Given the description of an element on the screen output the (x, y) to click on. 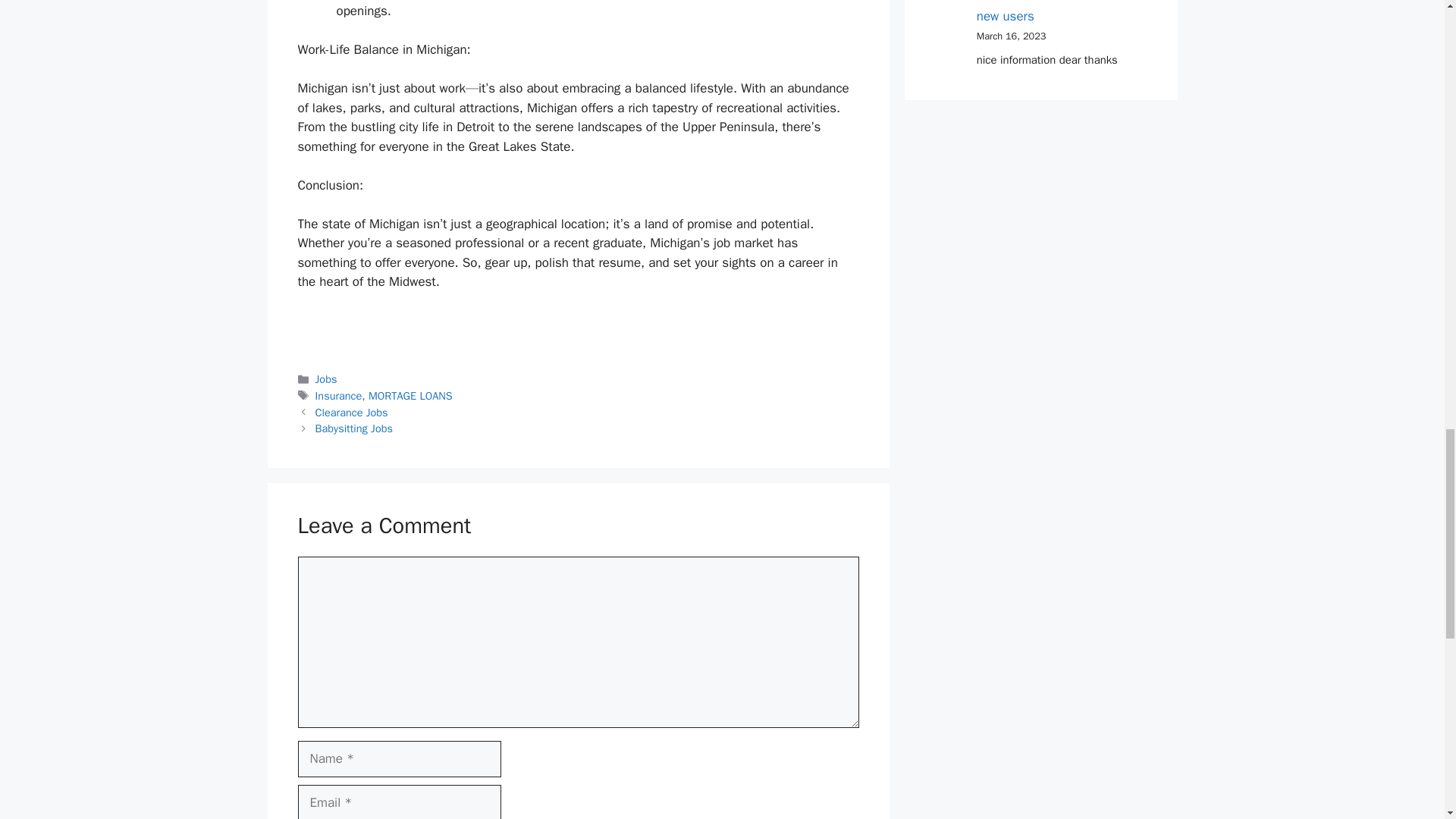
How to Buy Crypto on KuCoin Step-By-Step guide for new users (1061, 12)
Clearance Jobs (351, 412)
MORTAGE LOANS (410, 395)
Jobs (326, 378)
Babysitting Jobs (354, 427)
Insurance (338, 395)
